Given the description of an element on the screen output the (x, y) to click on. 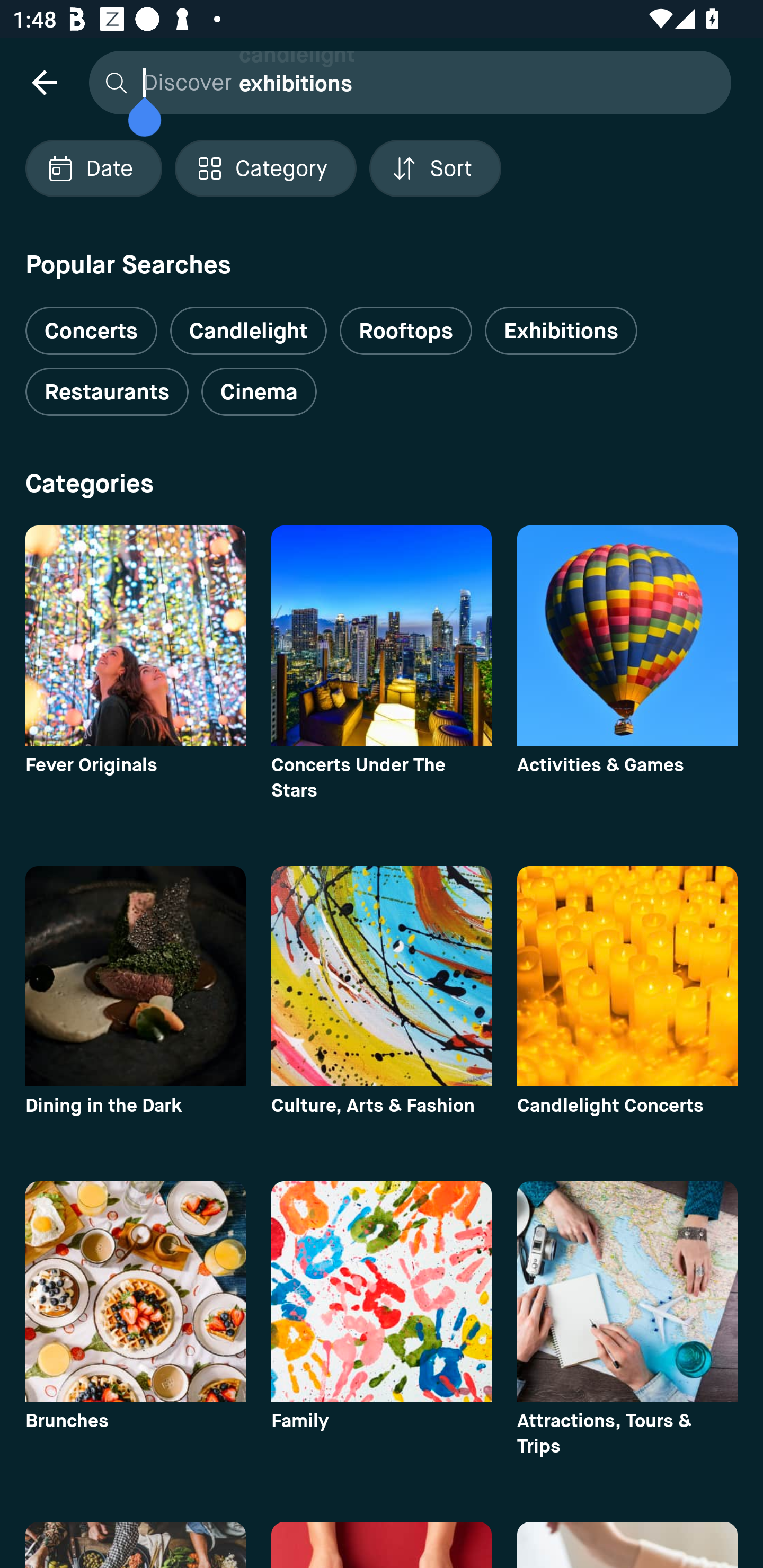
navigation icon (44, 81)
Discover candlelight (405, 81)
Localized description Date (93, 168)
Localized description Category (265, 168)
Localized description Sort (435, 168)
Concerts (91, 323)
Candlelight (248, 330)
Rooftops (405, 330)
Exhibitions (560, 330)
Restaurants (106, 391)
Cinema (258, 391)
category image (135, 635)
category image (381, 635)
category image (627, 635)
category image (135, 975)
category image (381, 975)
category image (627, 975)
category image (135, 1290)
category image (381, 1290)
category image (627, 1290)
